Given the description of an element on the screen output the (x, y) to click on. 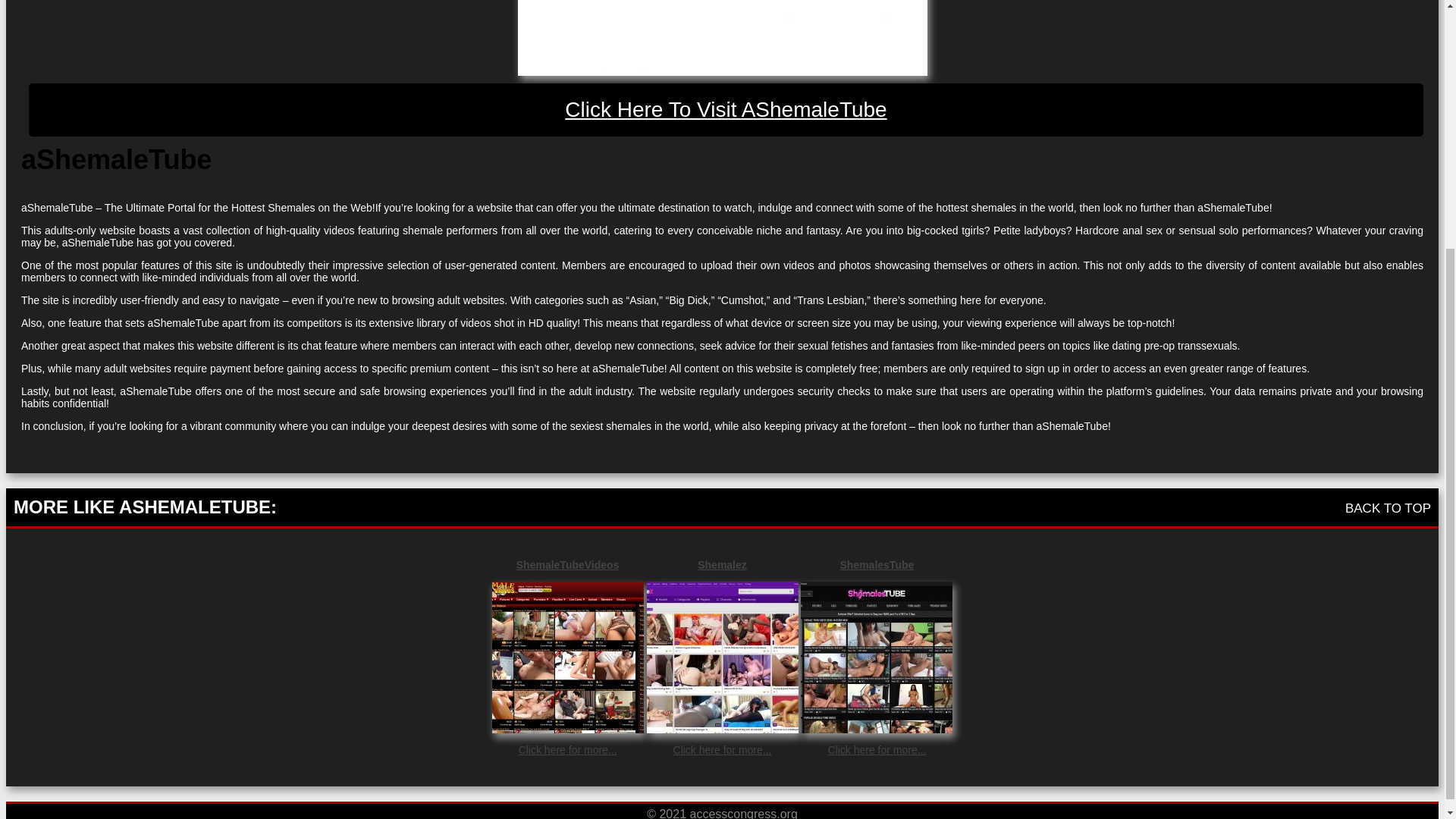
ShemalesTube (876, 564)
Click Here To Visit AShemaleTube (726, 109)
aShemaleTube (726, 109)
Click here for more... (721, 749)
aShemaleTube (722, 38)
Click here for more... (876, 749)
Click here for more... (567, 749)
aShemaleTube (721, 38)
ShemaleTubeVideos (567, 564)
BACK TO TOP (1388, 508)
Shemalez (721, 564)
